Given the description of an element on the screen output the (x, y) to click on. 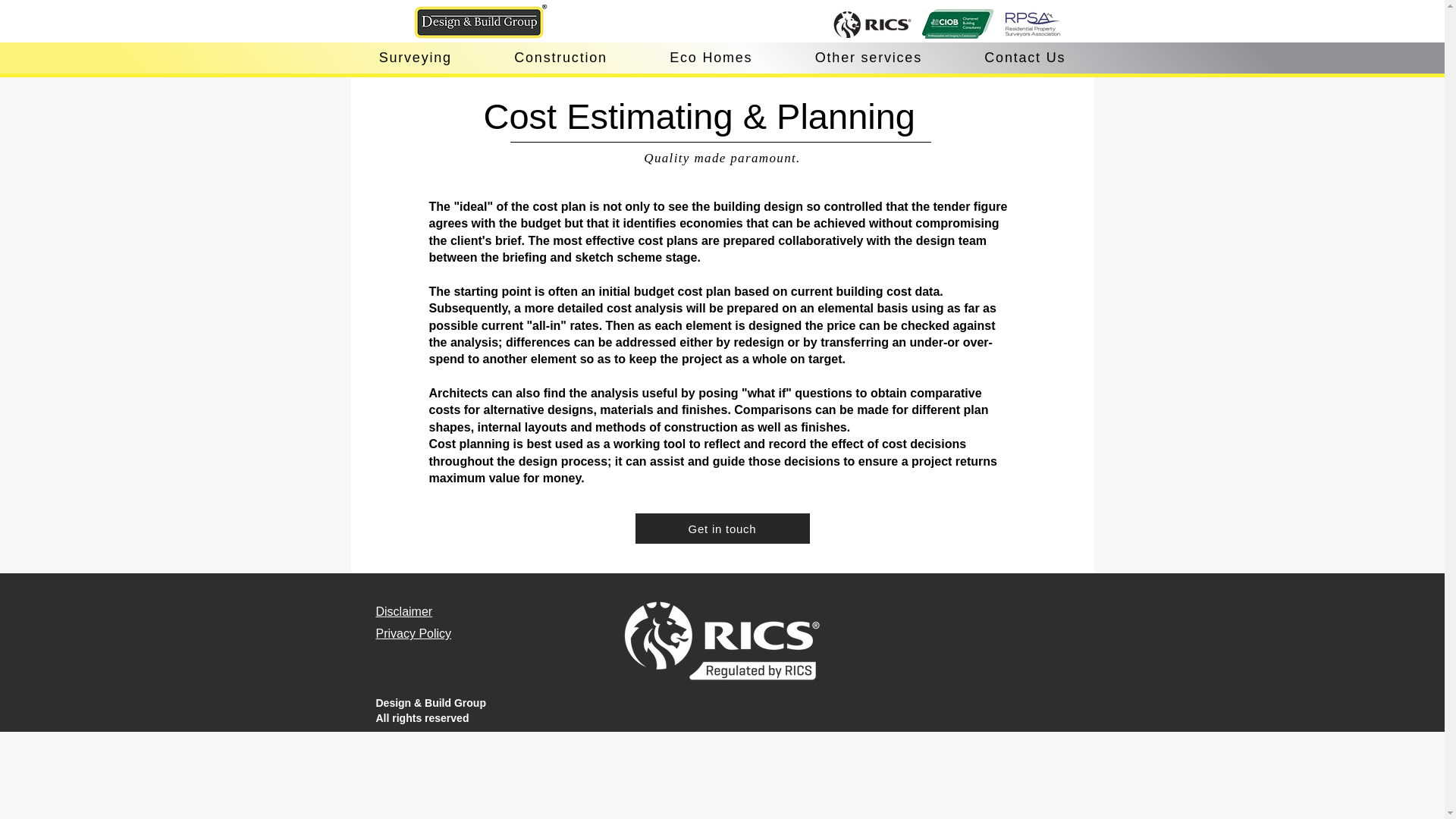
Surveying (415, 57)
Disclaimer (403, 611)
Contact Us (1024, 57)
Get in touch (721, 528)
Privacy Policy (413, 633)
Eco Homes (711, 57)
